Given the description of an element on the screen output the (x, y) to click on. 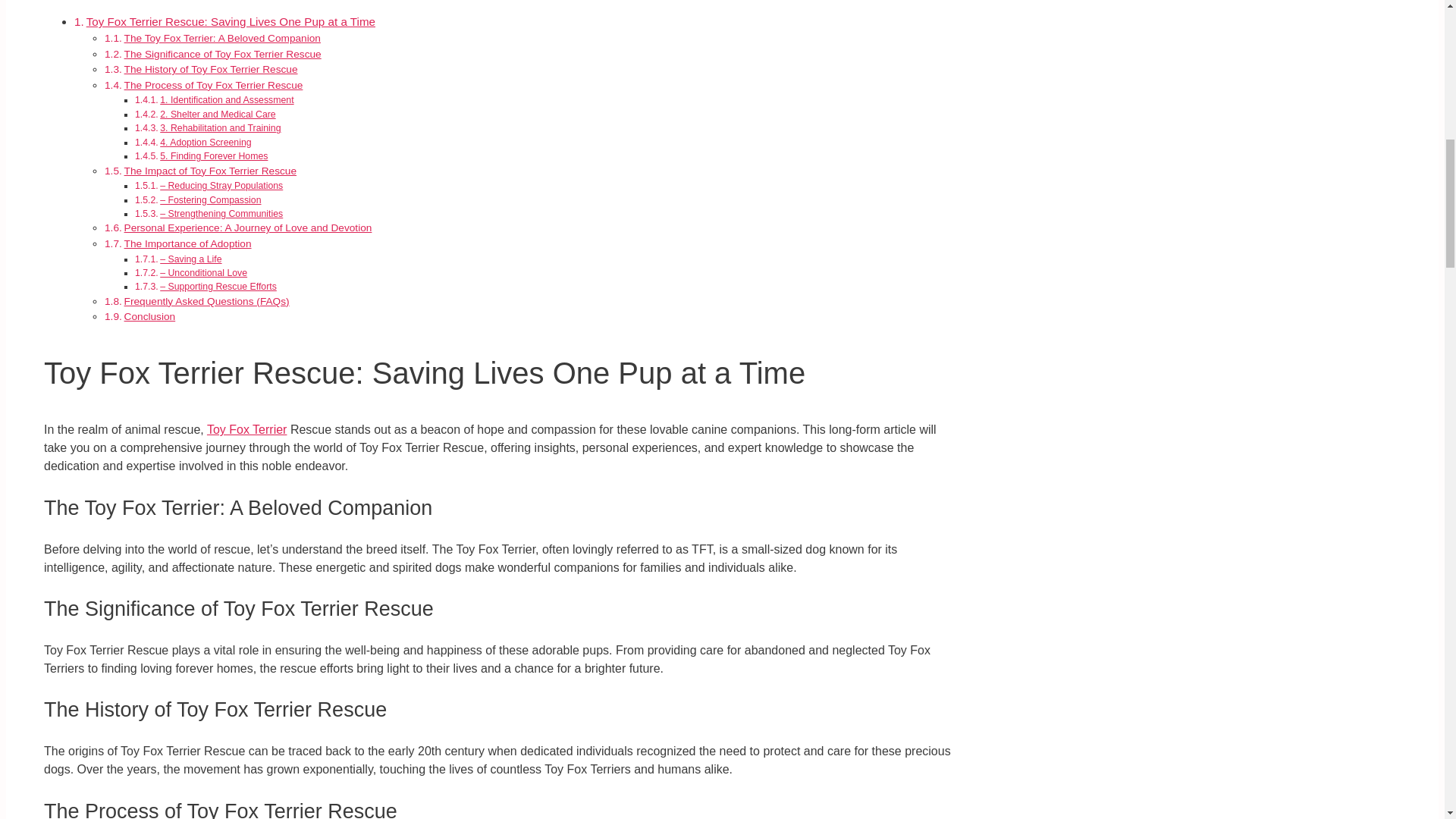
2. Shelter and Medical Care (217, 113)
The History of Toy Fox Terrier Rescue (210, 69)
The Impact of Toy Fox Terrier Rescue (210, 170)
1. Identification and Assessment (227, 100)
The Significance of Toy Fox Terrier Rescue (222, 53)
Toy Fox Terrier (246, 429)
5. Finding Forever Homes (213, 155)
The Toy Fox Terrier: A Beloved Companion (221, 38)
2. Shelter and Medical Care (217, 113)
Conclusion (149, 316)
4. Adoption Screening (205, 142)
3. Rehabilitation and Training (220, 127)
1. Identification and Assessment (227, 100)
Toy Fox Terrier Rescue: Saving Lives One Pup at a Time (230, 21)
Toy Fox Terrier Rescue: Saving Lives One Pup at a Time (230, 21)
